Given the description of an element on the screen output the (x, y) to click on. 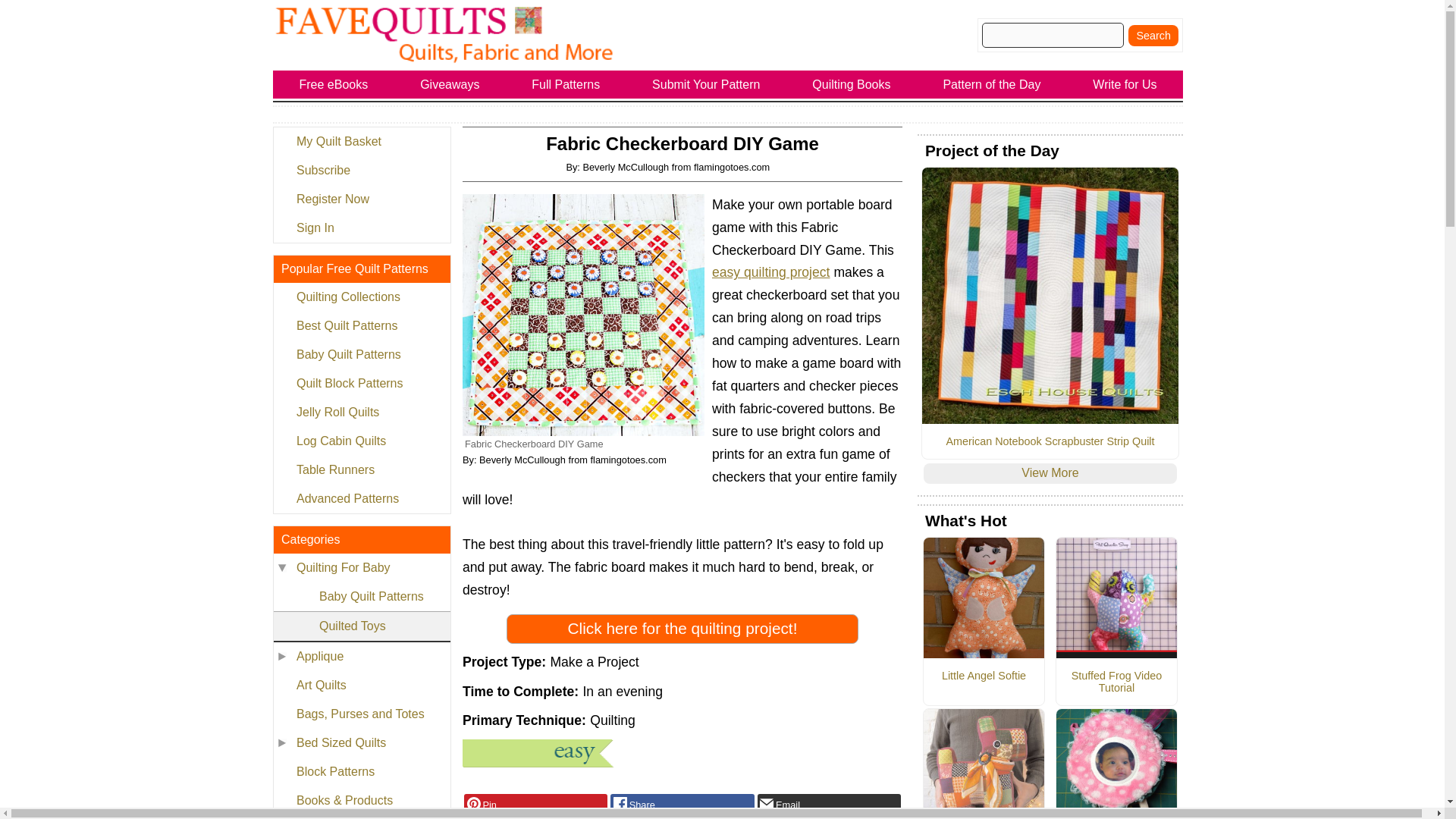
Register Now (361, 199)
Fabric Checkerboard DIY Game (583, 314)
Email (829, 803)
Search (1152, 35)
Subscribe (361, 170)
Facebook (682, 803)
My Quilt Basket (361, 141)
Sign In (361, 227)
